Given the description of an element on the screen output the (x, y) to click on. 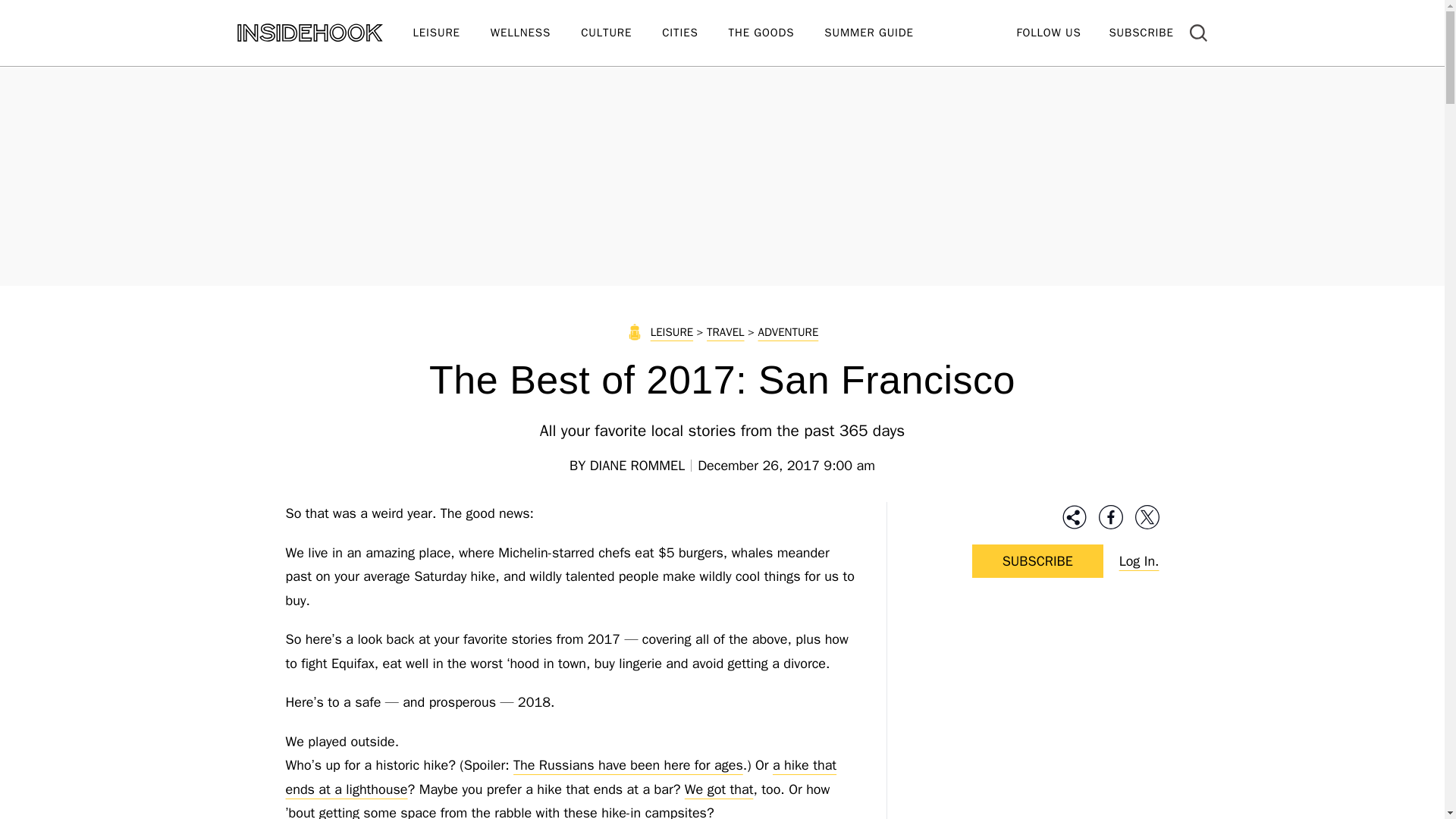
CULTURE (621, 32)
WELLNESS (535, 32)
3rd party ad content (1037, 717)
SUBSCRIBE (1140, 32)
FOLLOW US (1048, 32)
THE GOODS (777, 32)
CITIES (695, 32)
LEISURE (450, 32)
SUMMER GUIDE (883, 32)
